Given the description of an element on the screen output the (x, y) to click on. 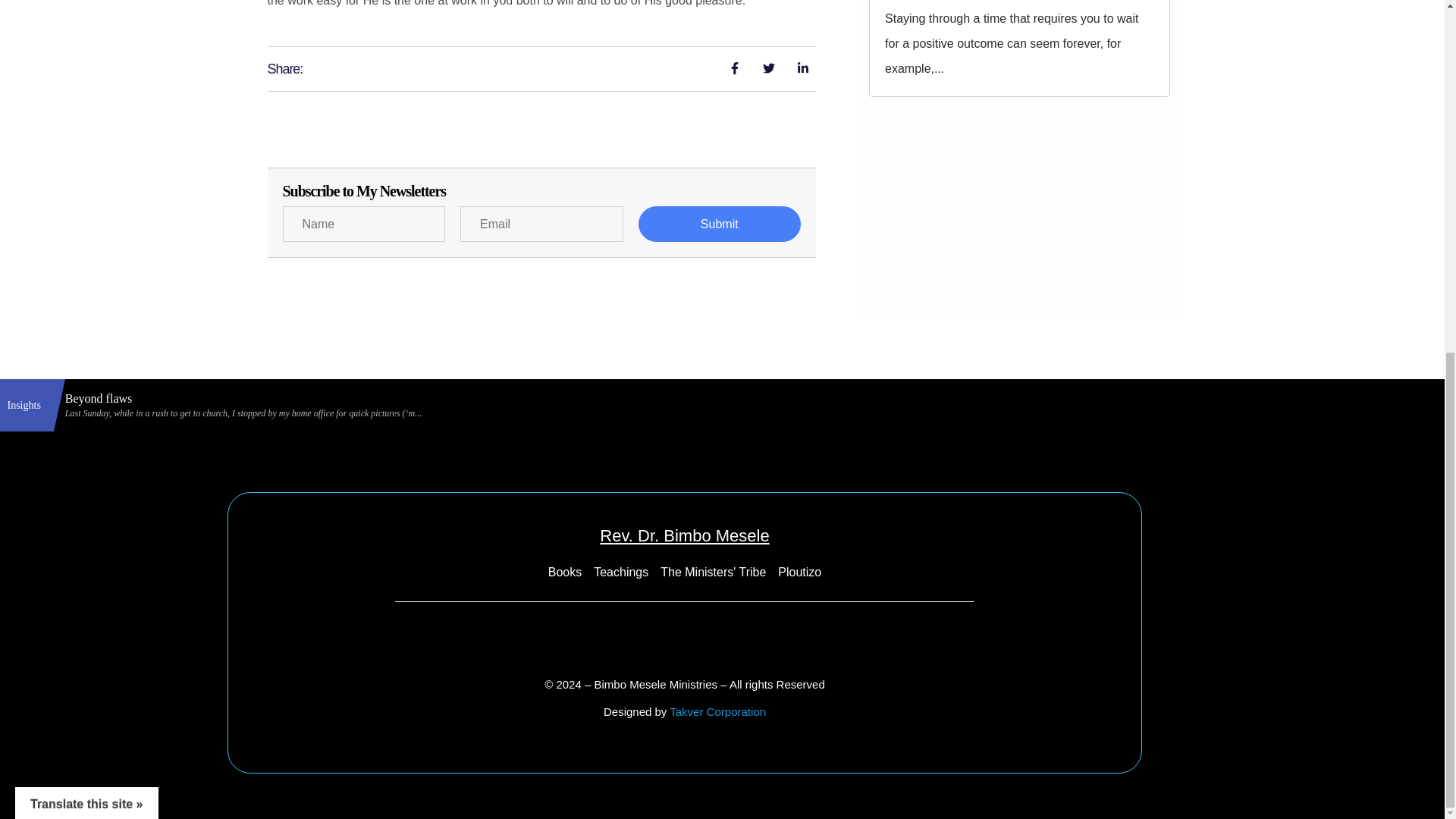
Submit (720, 223)
Beyond flaws (752, 398)
